Given the description of an element on the screen output the (x, y) to click on. 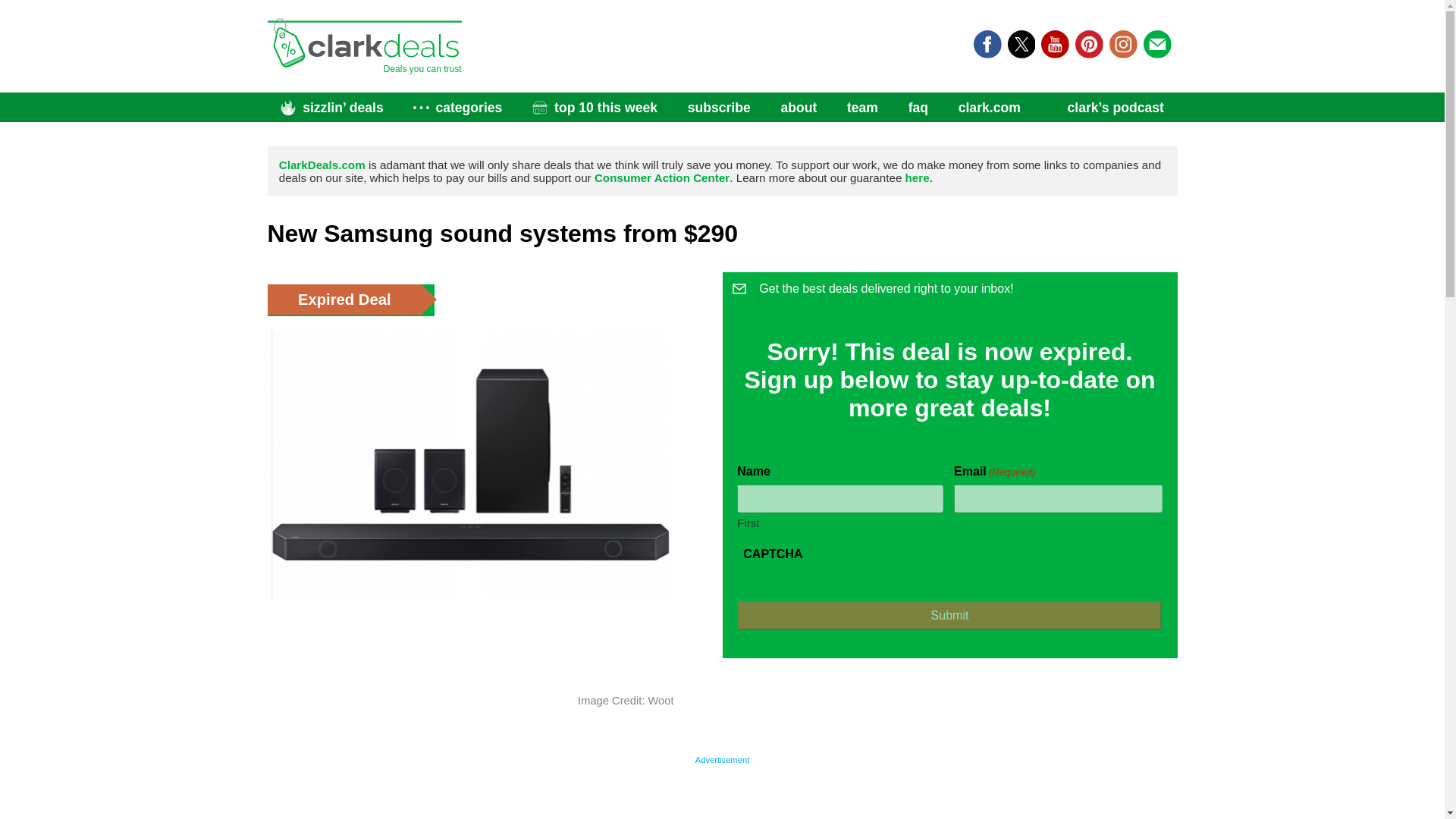
Submit (949, 615)
Advertisement (721, 794)
